Given the description of an element on the screen output the (x, y) to click on. 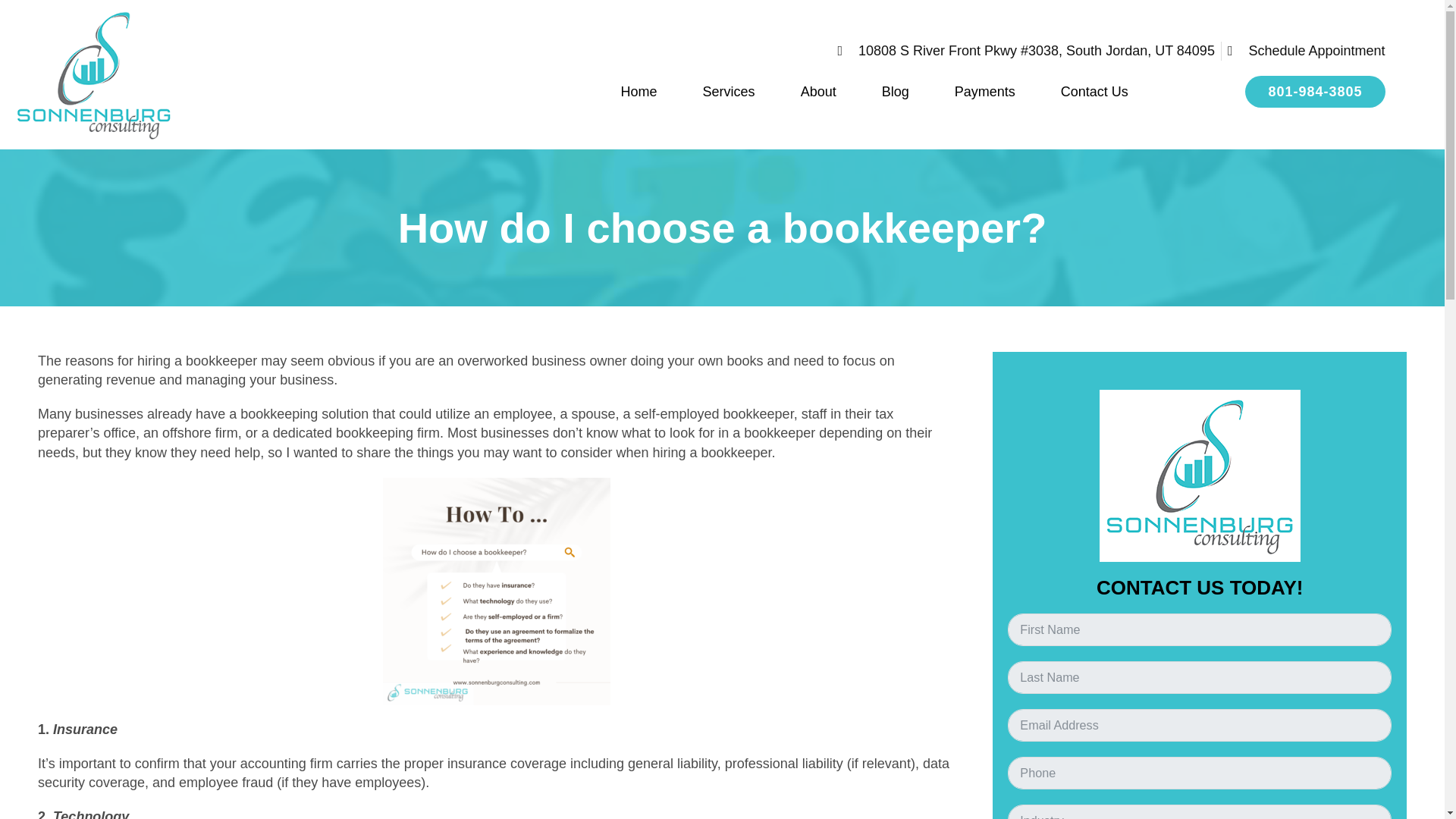
About (818, 91)
801-984-3805 (1314, 91)
Contact Us (1094, 91)
Blog (894, 91)
Home (639, 91)
Schedule Appointment (1306, 50)
Payments (984, 91)
Services (728, 91)
